Given the description of an element on the screen output the (x, y) to click on. 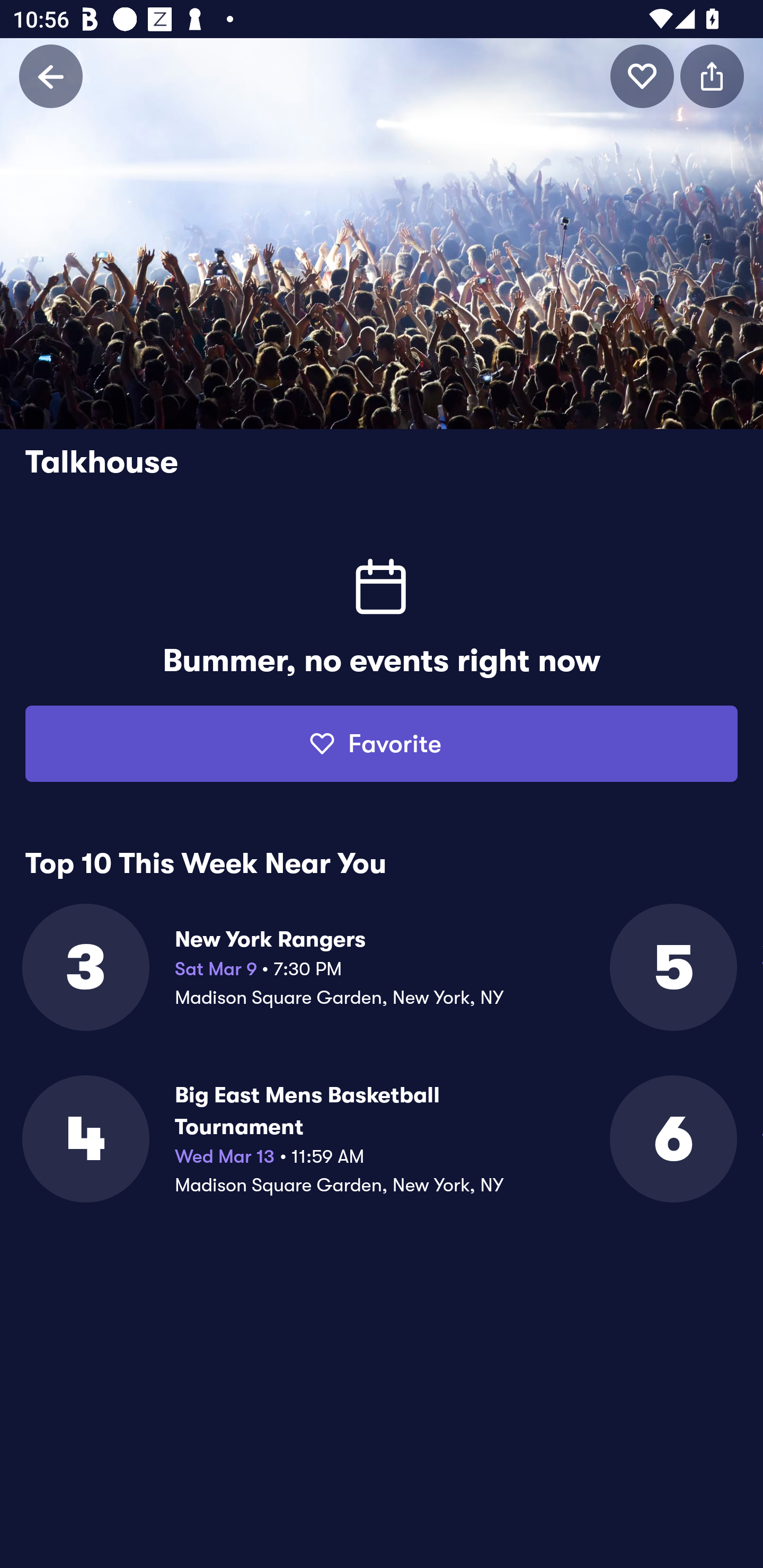
Back (50, 75)
icon button (641, 75)
icon button (711, 75)
Favorite (381, 743)
